Given the description of an element on the screen output the (x, y) to click on. 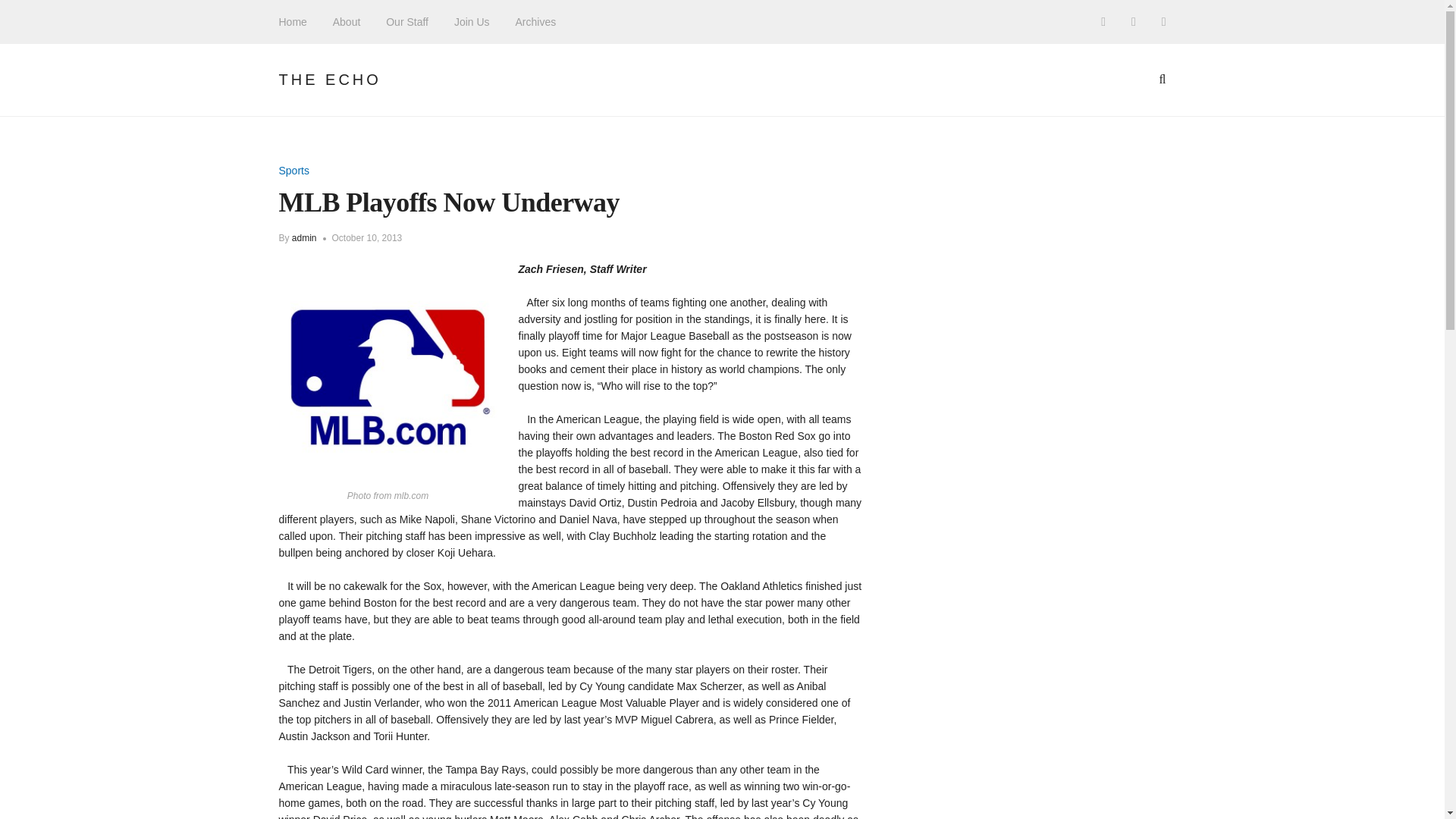
THE ECHO (330, 79)
admin (304, 237)
Sports (293, 170)
Home (293, 21)
About (347, 21)
Posts by admin (304, 237)
Archives (535, 21)
Our Staff (406, 21)
Join Us (471, 21)
